Given the description of an element on the screen output the (x, y) to click on. 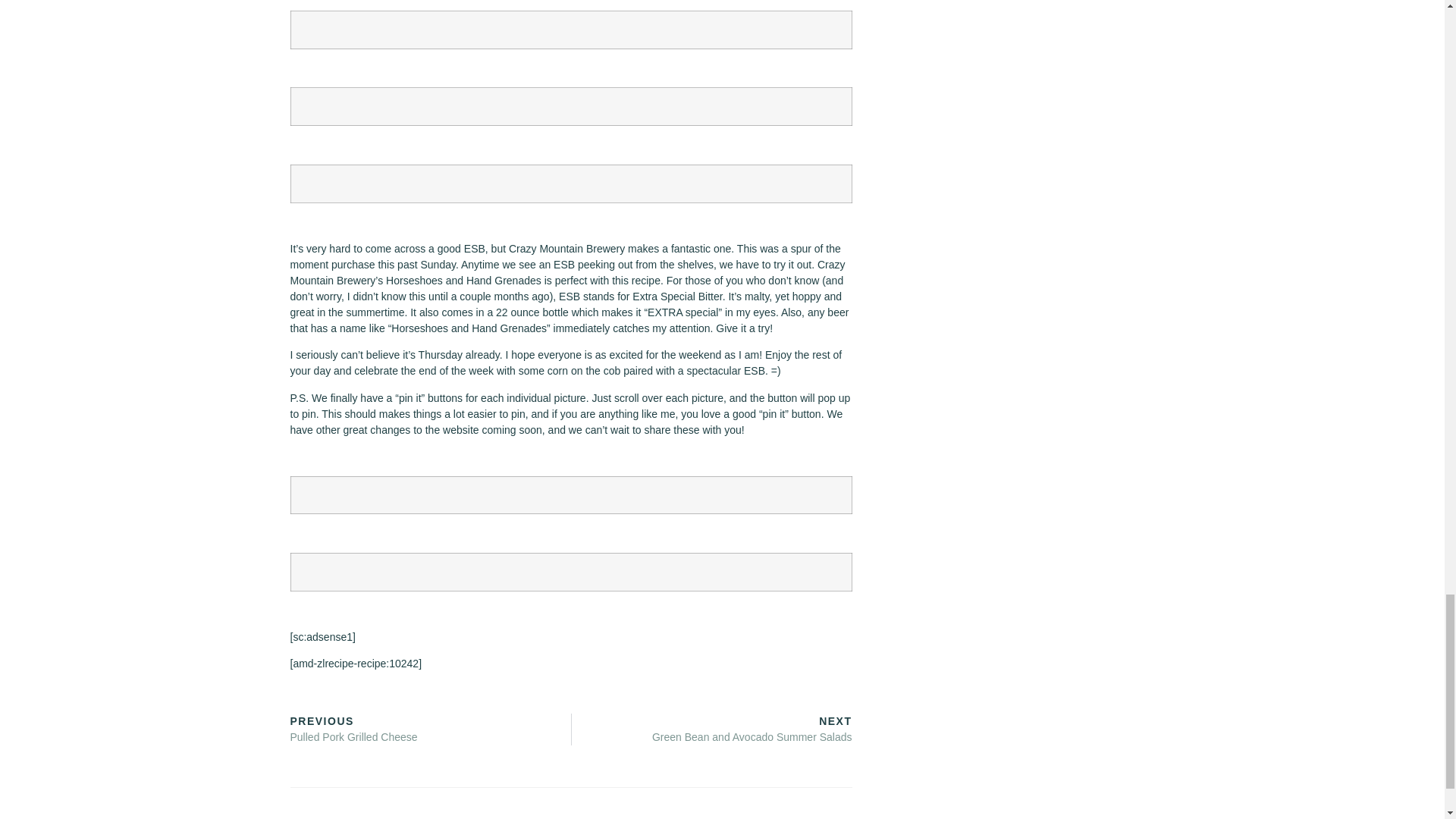
Crazy Mountain Brewery (566, 248)
